Given the description of an element on the screen output the (x, y) to click on. 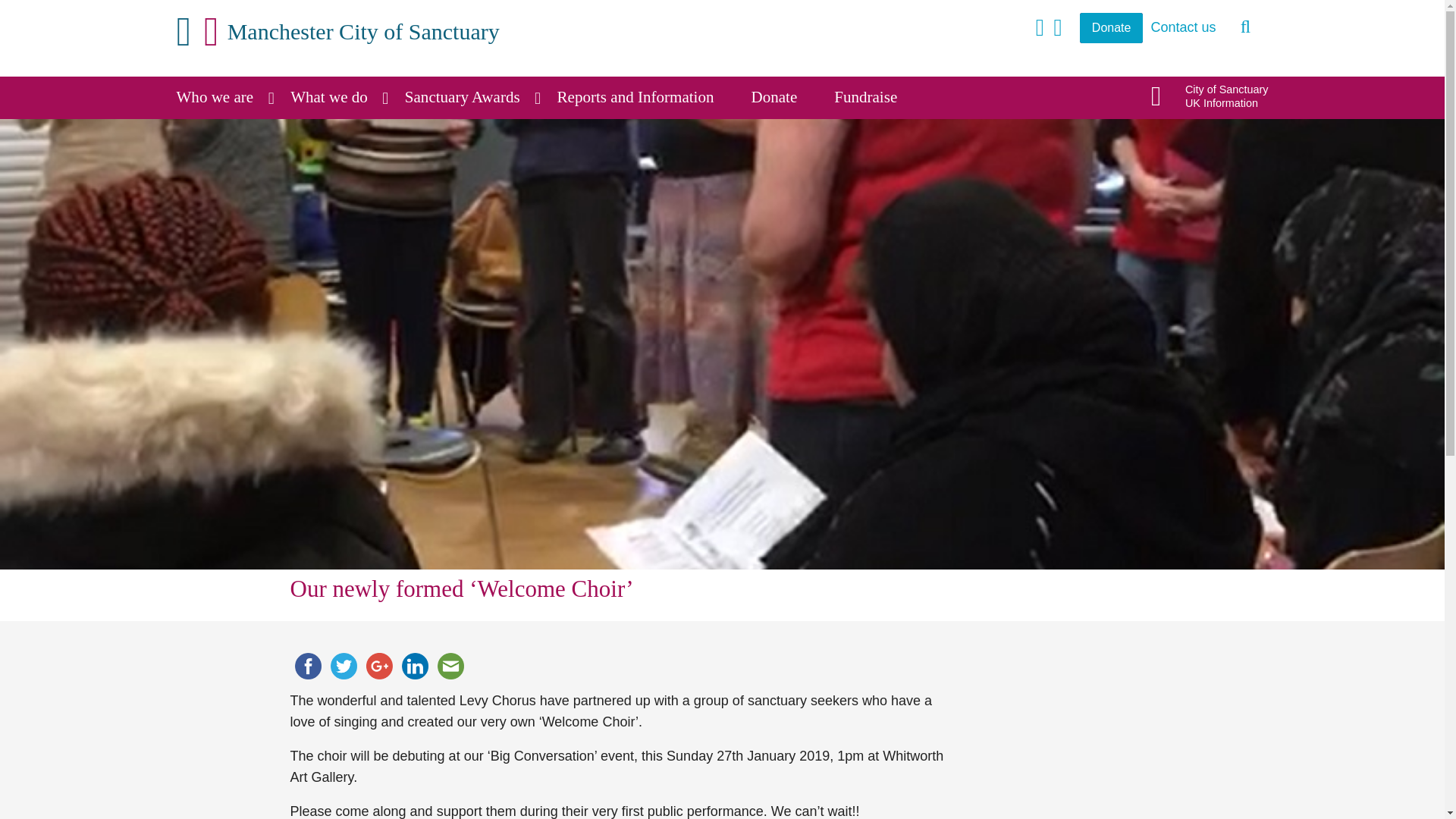
Donate (1111, 28)
Search (1246, 27)
twitter (343, 665)
Reports and Information (645, 97)
Donate (783, 97)
Fundraise (875, 97)
email (449, 665)
google (1209, 95)
facebook (378, 665)
What we do (306, 665)
Sanctuary Awards (338, 97)
linkedin (472, 97)
Who we are (414, 665)
Manchester City of Sanctuary (224, 97)
